Given the description of an element on the screen output the (x, y) to click on. 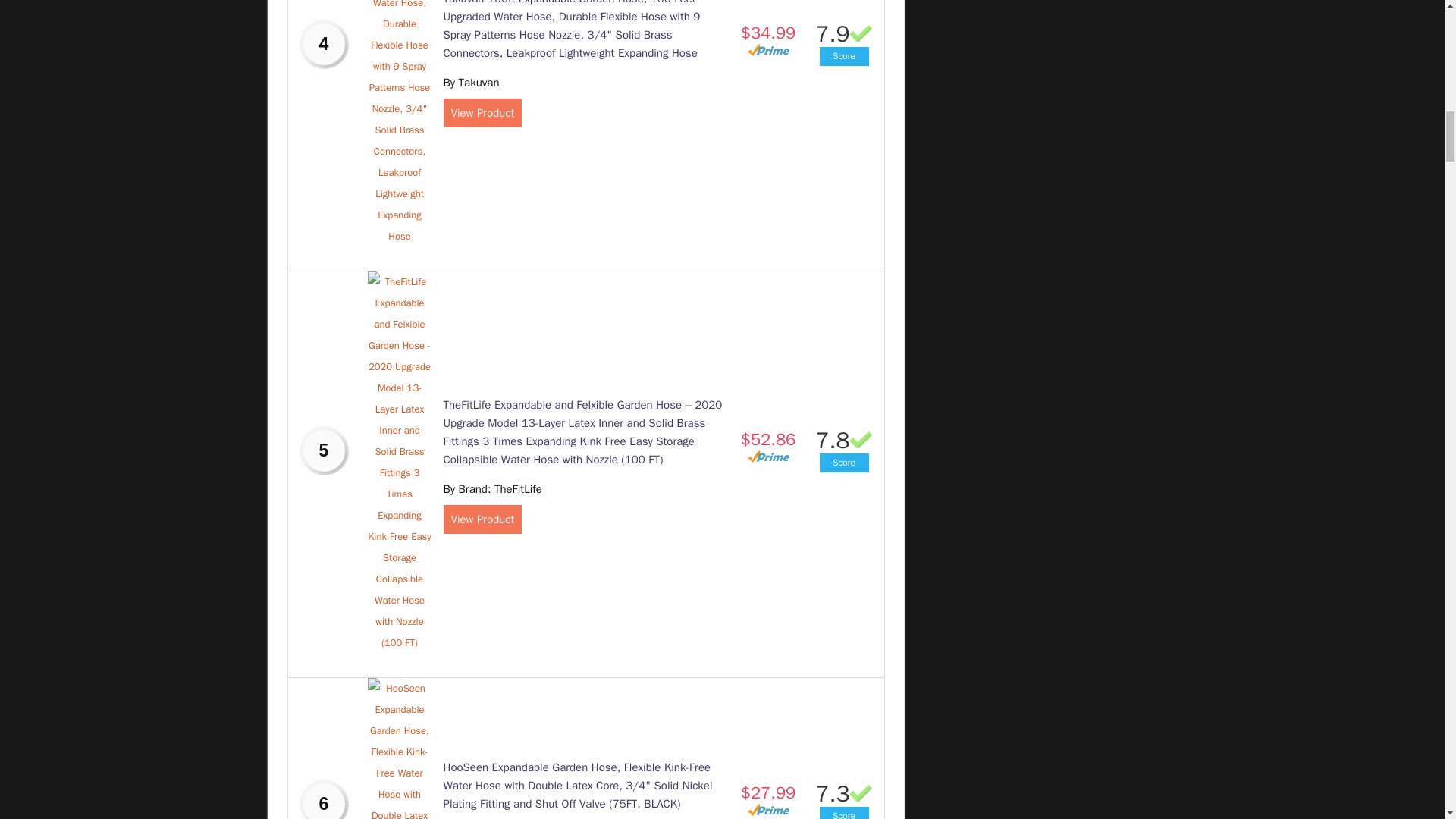
View Product (481, 519)
By Brand: TheFitLife (491, 489)
By Takuvan (470, 82)
View Product (481, 112)
